Given the description of an element on the screen output the (x, y) to click on. 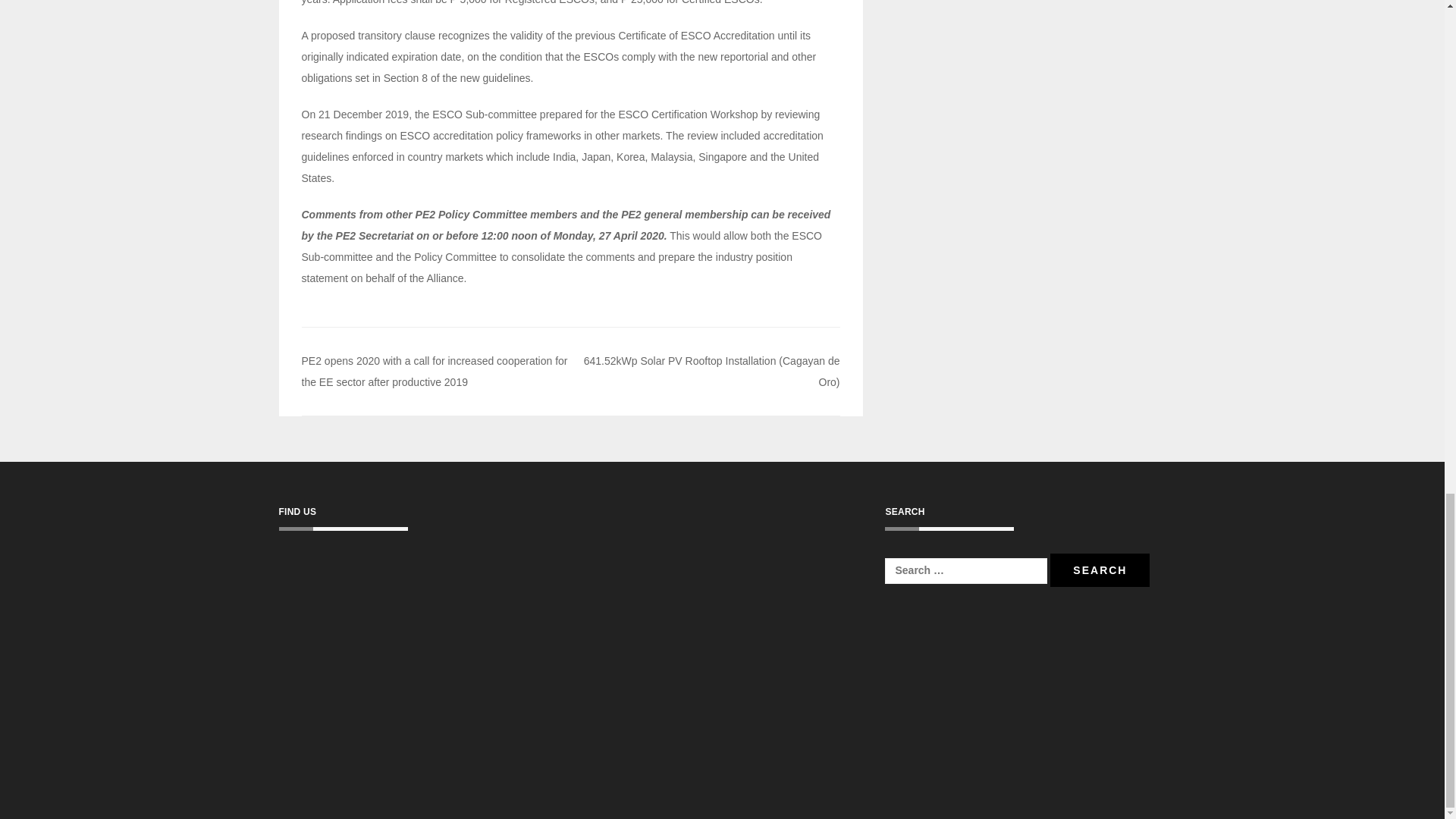
Search (1099, 570)
Search (1099, 570)
